Given the description of an element on the screen output the (x, y) to click on. 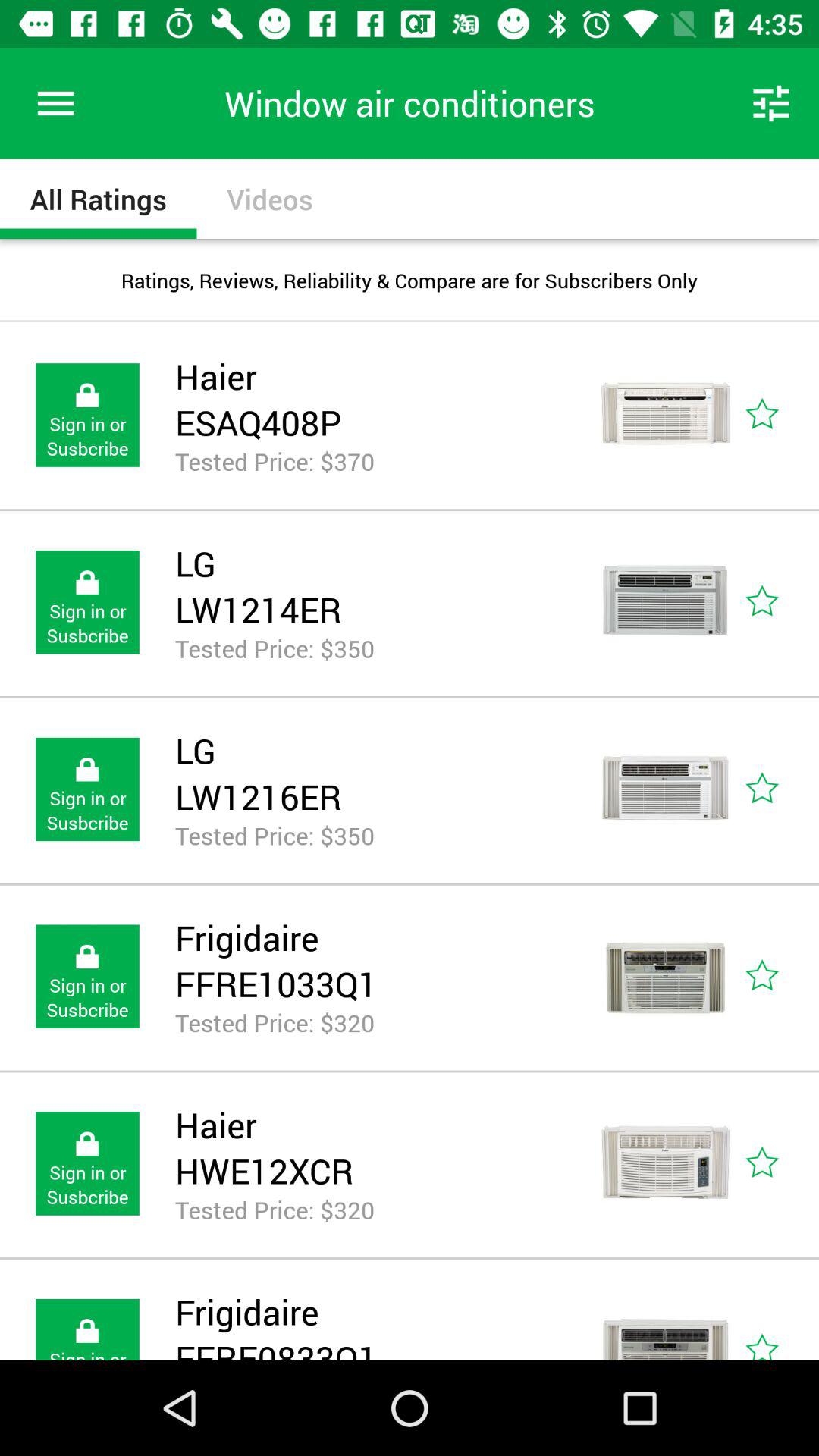
favorite the item (779, 976)
